Given the description of an element on the screen output the (x, y) to click on. 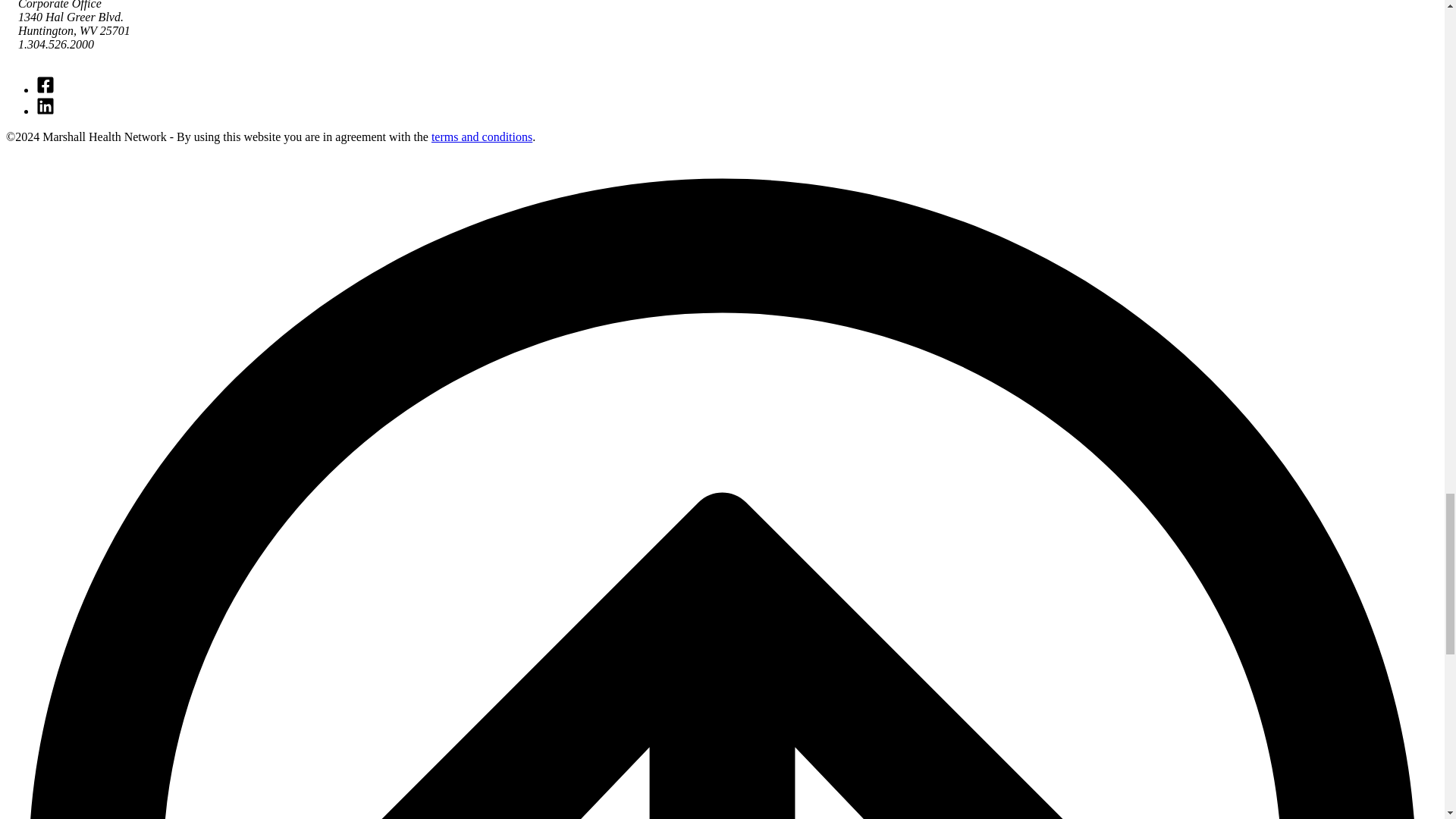
Facebook (45, 89)
LinkedIn (45, 110)
